Given the description of an element on the screen output the (x, y) to click on. 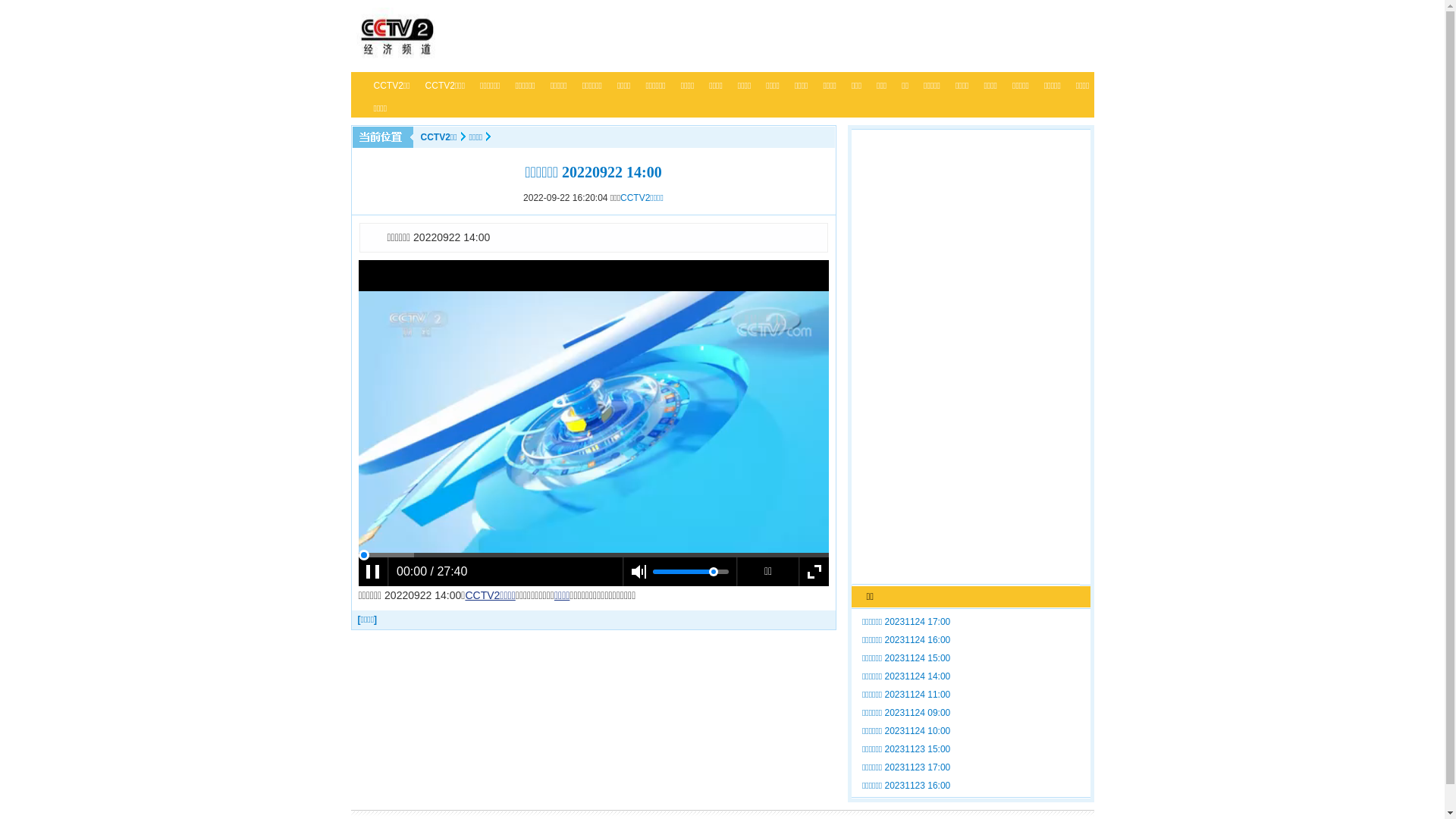
Advertisement Element type: hover (965, 357)
